Given the description of an element on the screen output the (x, y) to click on. 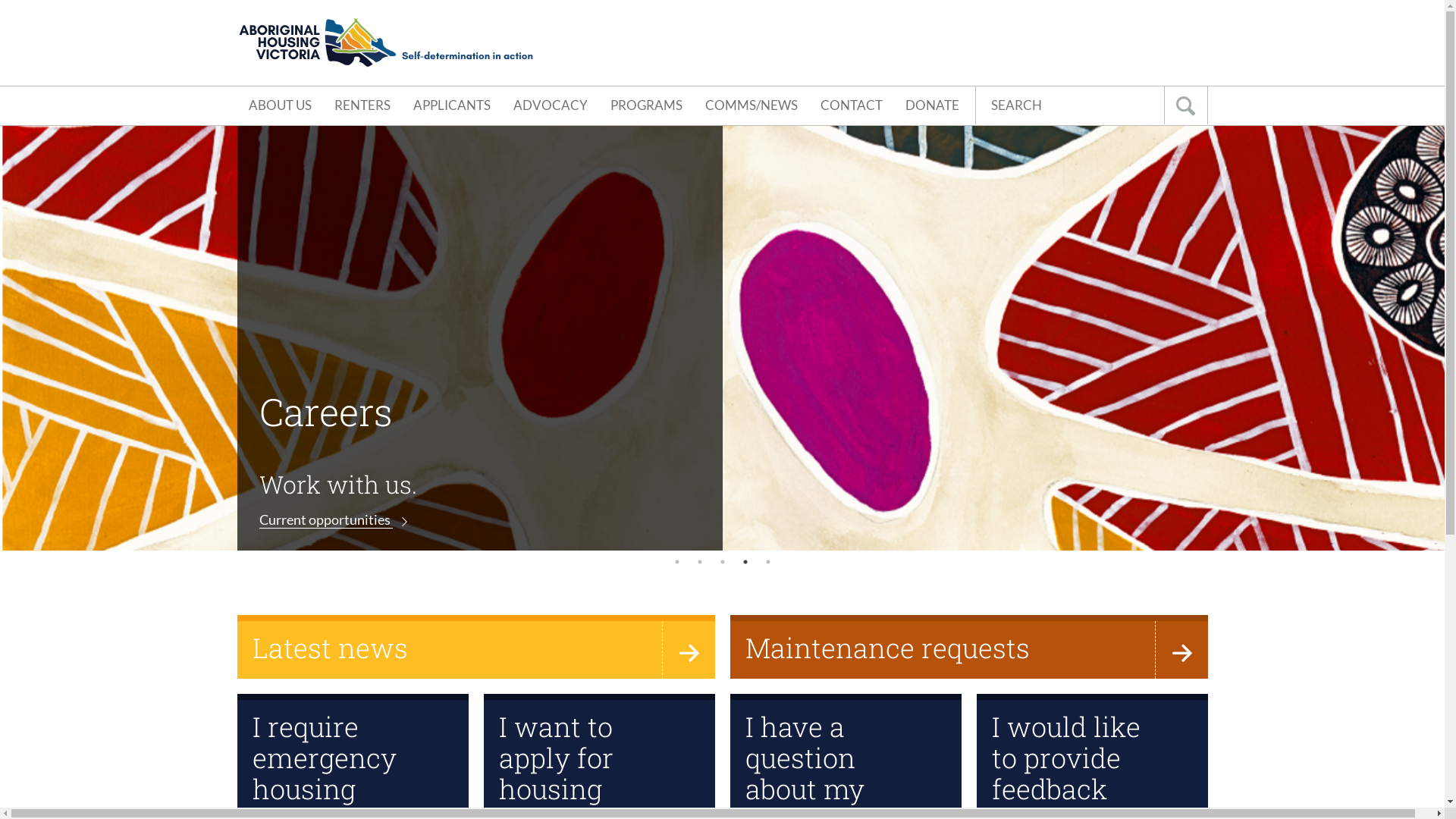
RENTERS Element type: text (362, 106)
PROGRAMS Element type: text (646, 106)
Maintenance requests Element type: text (968, 646)
Learn more Element type: text (384, 519)
5 Element type: text (767, 561)
COMMS/NEWS Element type: text (750, 106)
1 Element type: text (676, 561)
DONATE Element type: text (931, 106)
2 Element type: text (698, 561)
Latest news Element type: text (475, 646)
ABOUT US Element type: text (279, 106)
4 Element type: text (744, 561)
Go Element type: text (1184, 105)
3 Element type: text (721, 561)
APPLICANTS Element type: text (451, 106)
CONTACT Element type: text (850, 106)
ADVOCACY Element type: text (550, 106)
